Given the description of an element on the screen output the (x, y) to click on. 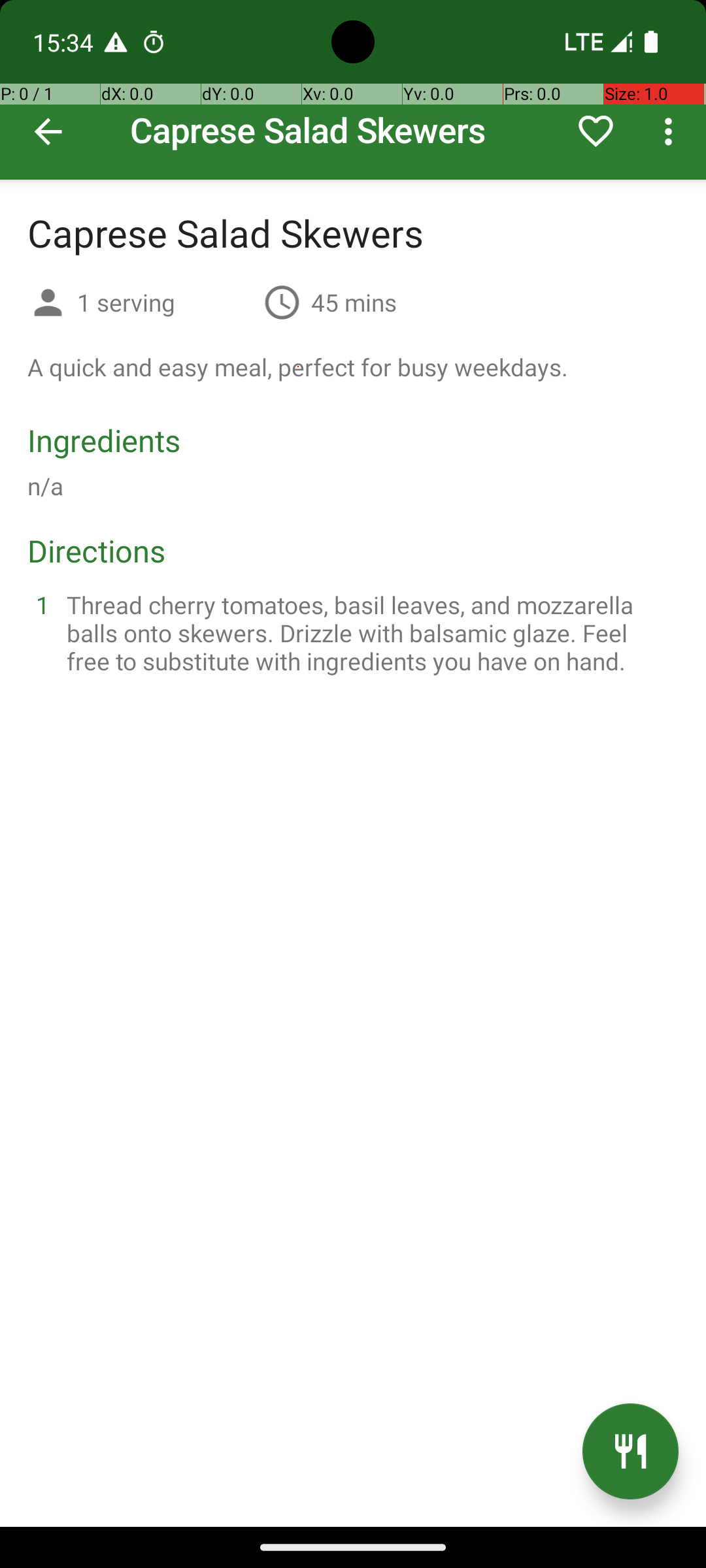
1 serving Element type: android.widget.TextView (164, 301)
45 mins Element type: android.widget.TextView (353, 301)
n/a Element type: android.widget.TextView (45, 485)
Thread cherry tomatoes, basil leaves, and mozzarella balls onto skewers. Drizzle with balsamic glaze. Feel free to substitute with ingredients you have on hand. Element type: android.widget.TextView (368, 632)
